Given the description of an element on the screen output the (x, y) to click on. 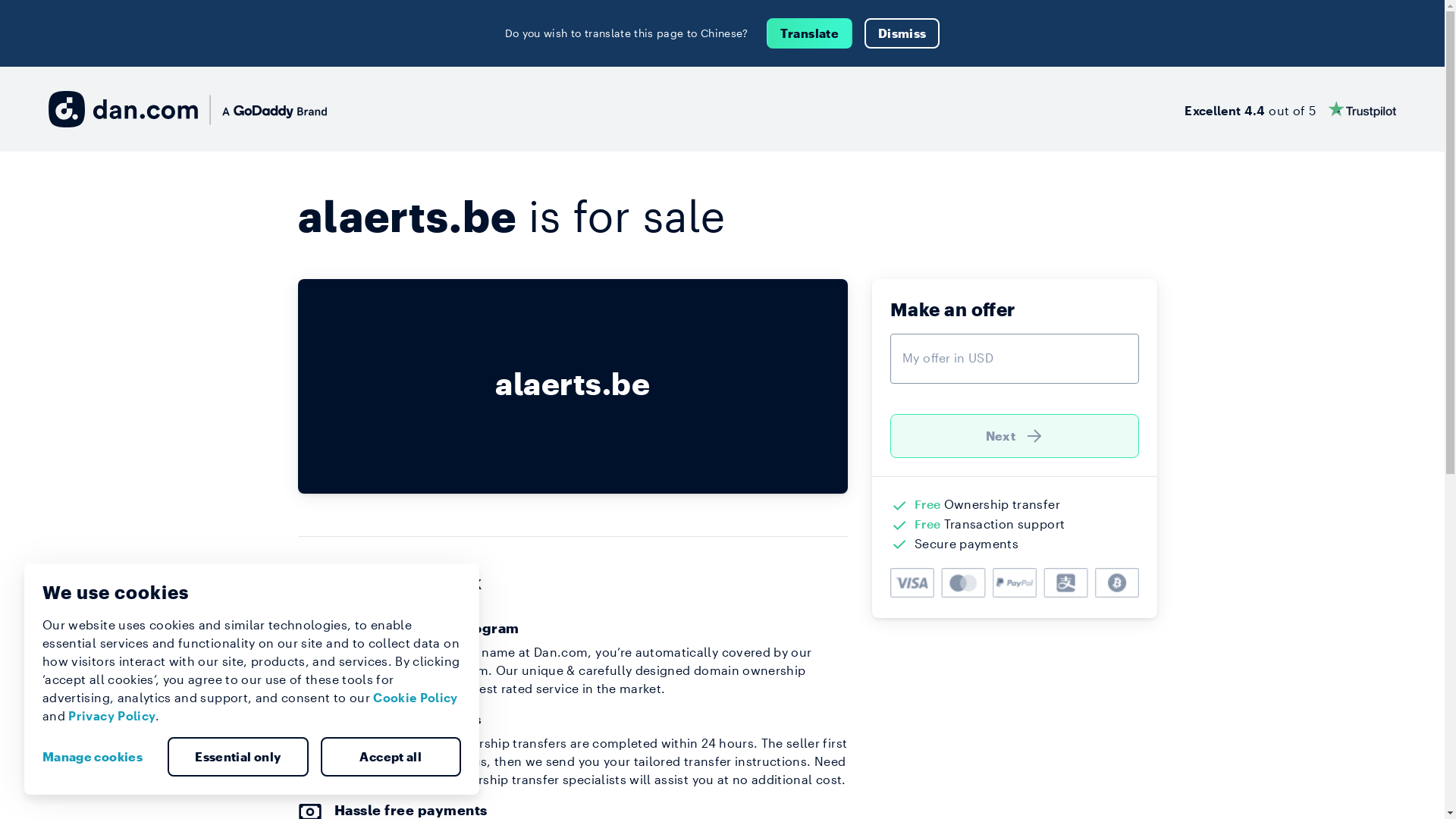
Manage cookies Element type: text (98, 756)
Essential only Element type: text (237, 756)
Privacy Policy Element type: text (111, 715)
Next
) Element type: text (1014, 436)
Dismiss Element type: text (901, 33)
Cookie Policy Element type: text (415, 697)
Accept all Element type: text (390, 756)
Excellent 4.4 out of 5 Element type: text (1290, 109)
Translate Element type: text (809, 33)
